Given the description of an element on the screen output the (x, y) to click on. 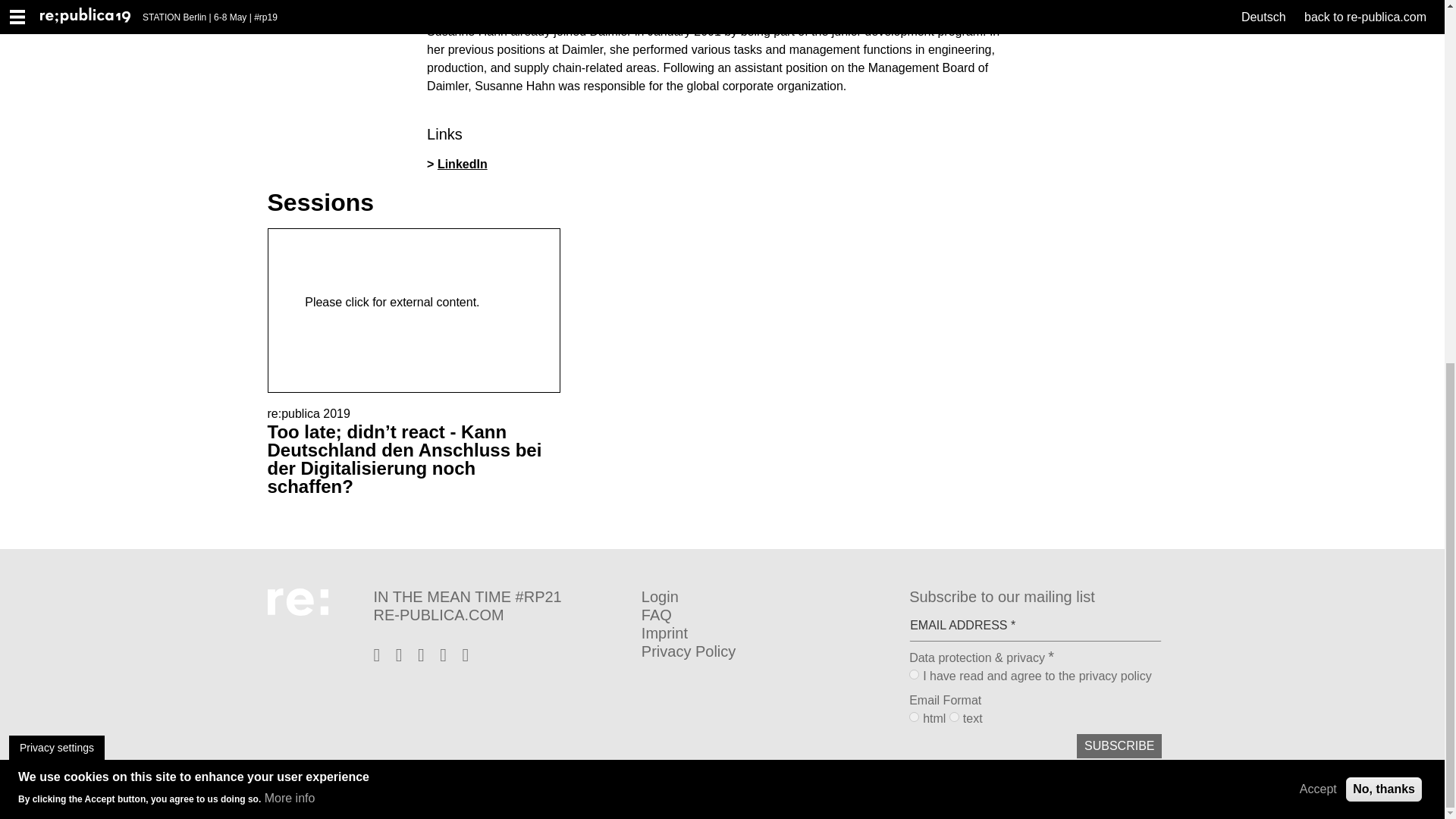
html (913, 716)
No, thanks (1383, 141)
text (954, 716)
Subscribe (1119, 745)
re:publica global site (499, 614)
Privacy settings (56, 99)
More info (289, 151)
Accept (1318, 141)
